Given the description of an element on the screen output the (x, y) to click on. 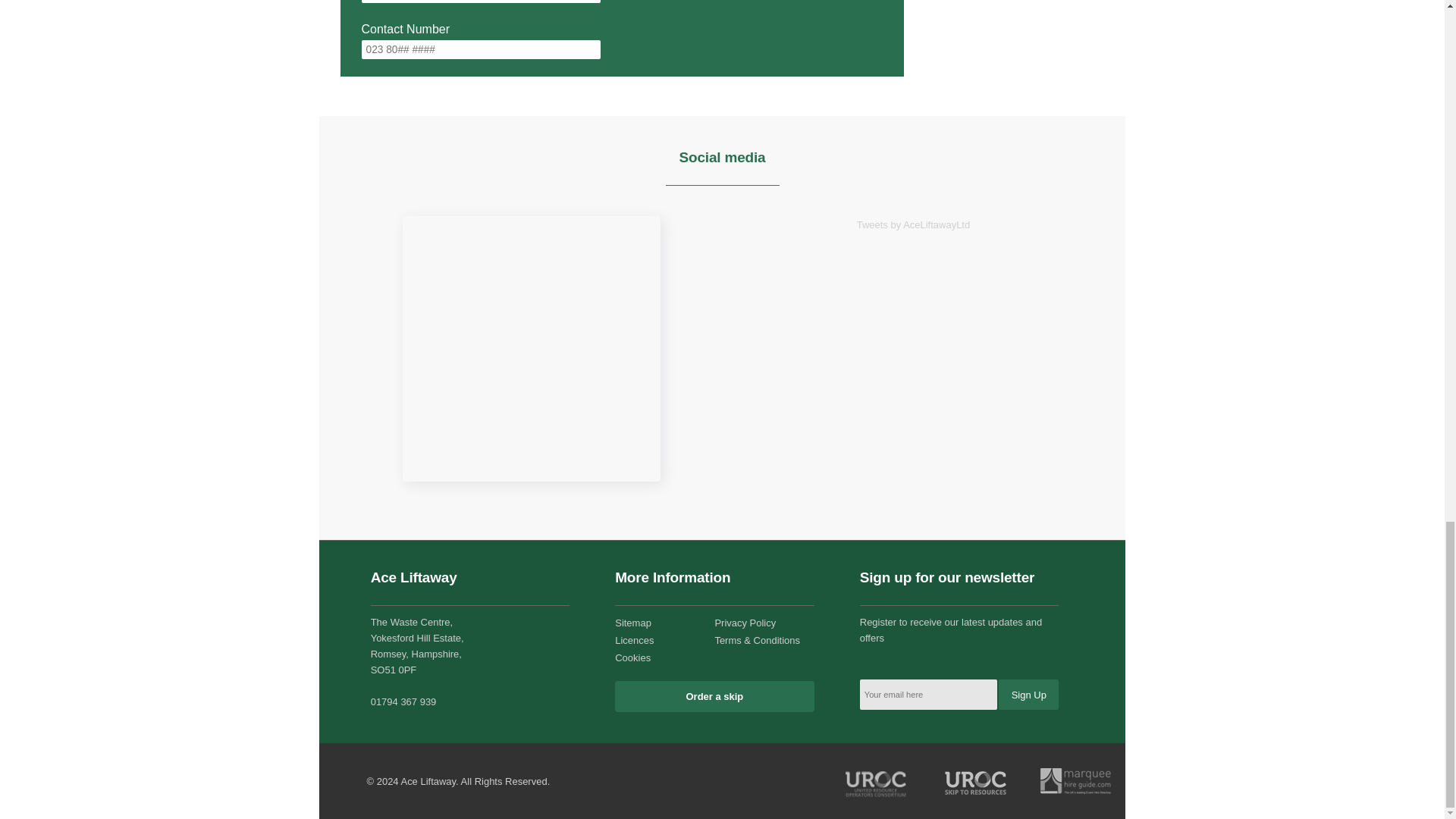
uroc logo full (876, 780)
Cookies (632, 657)
logo2 (975, 780)
Sign Up (1028, 694)
Sitemap (632, 622)
Sign Up (1028, 694)
logo1 (1074, 780)
Order a skip (713, 695)
Licences (633, 640)
Tweets by AceLiftawayLtd (913, 224)
Privacy Policy (745, 622)
